Given the description of an element on the screen output the (x, y) to click on. 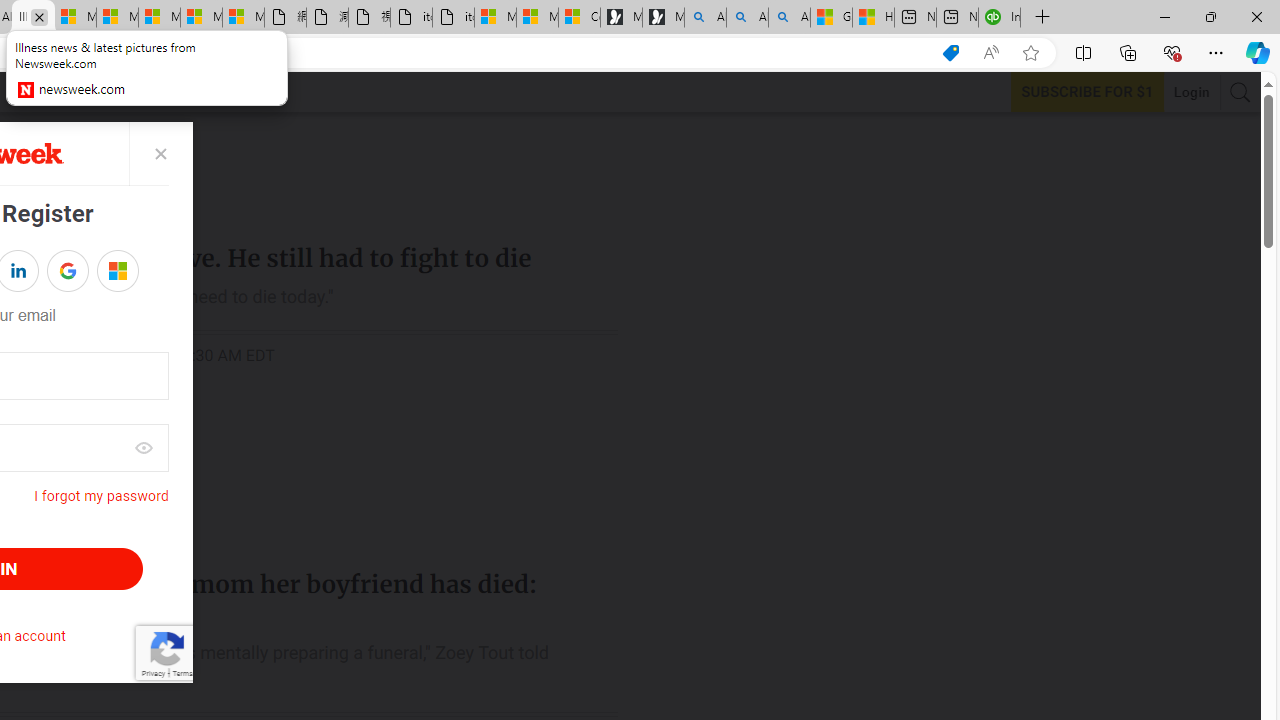
How to Use a TV as a Computer Monitor (872, 17)
Terms (182, 672)
Eugene (104, 271)
Sign in as Eugene EugeneLedger601@outlook.com (117, 270)
Consumer Health Data Privacy Policy (579, 17)
Login (1192, 92)
